Given the description of an element on the screen output the (x, y) to click on. 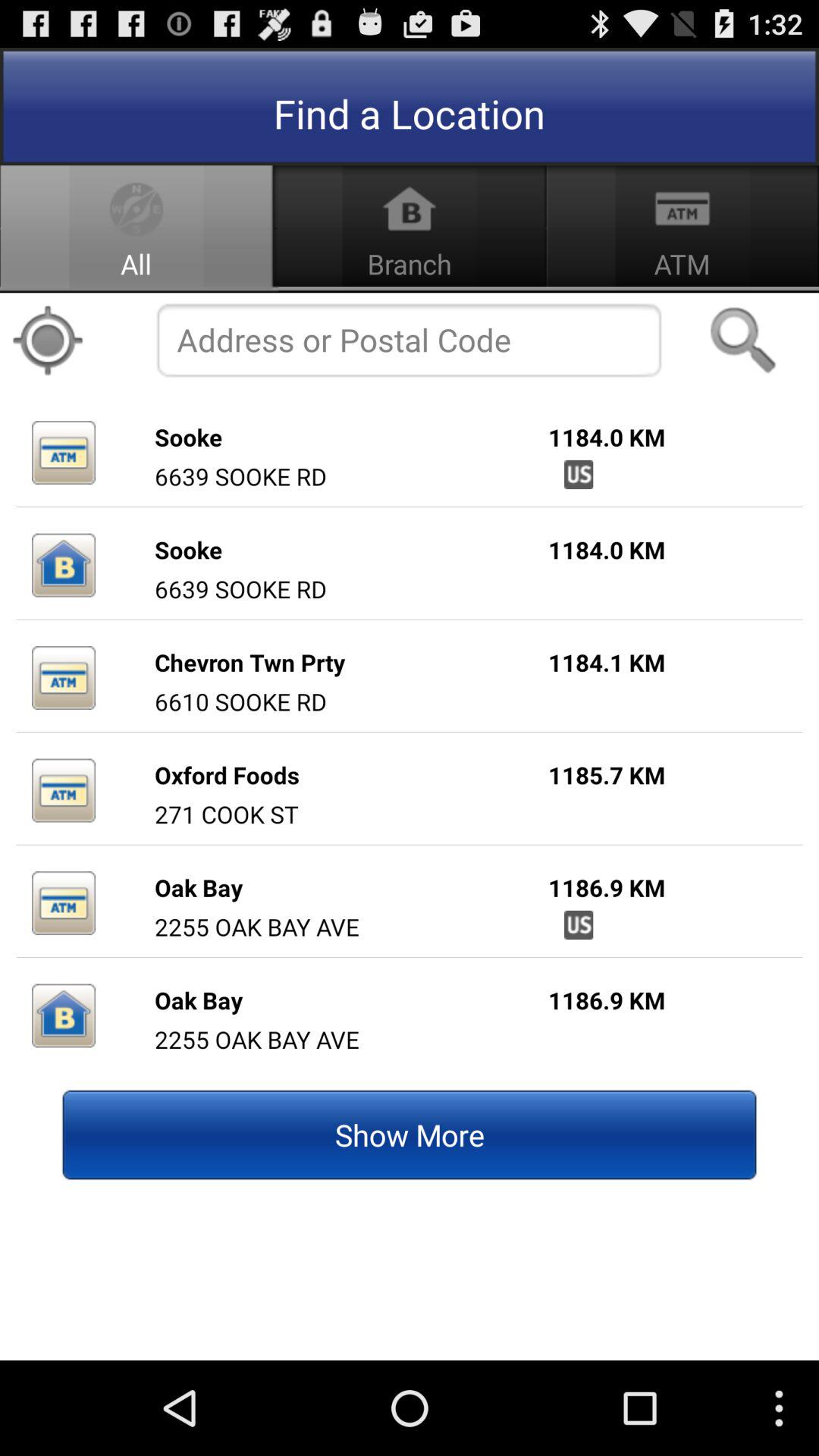
click icon next to the all (47, 340)
